Given the description of an element on the screen output the (x, y) to click on. 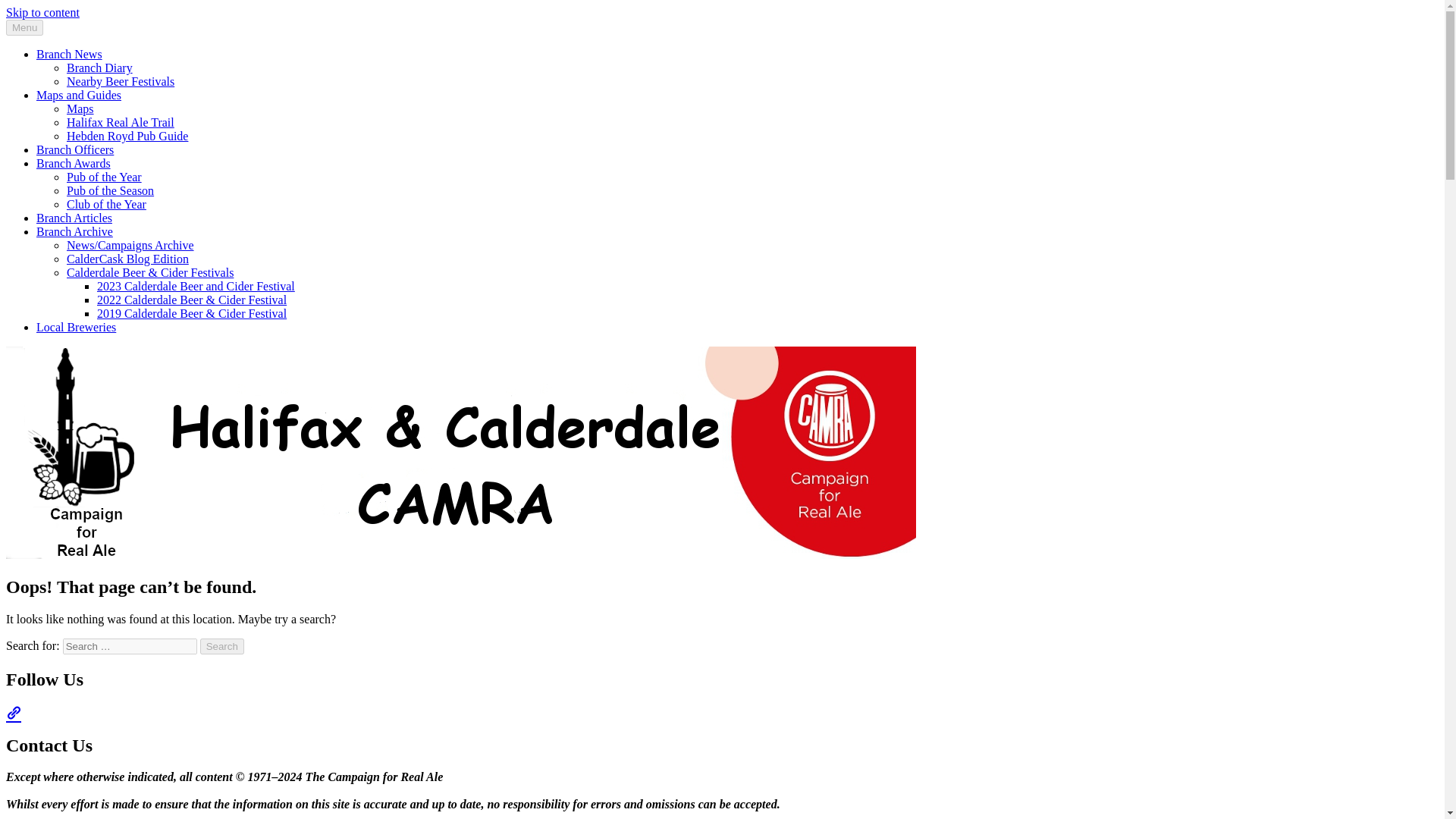
Search (222, 646)
Halifax Real Ale Trail (120, 122)
Admin links (13, 711)
Pub of the Season (110, 190)
Maps (80, 108)
Hebden Royd Pub Guide (126, 135)
Branch Awards (73, 163)
Club of the Year (106, 204)
Branch Archive (74, 231)
Nearby Beer Festivals (120, 81)
